Given the description of an element on the screen output the (x, y) to click on. 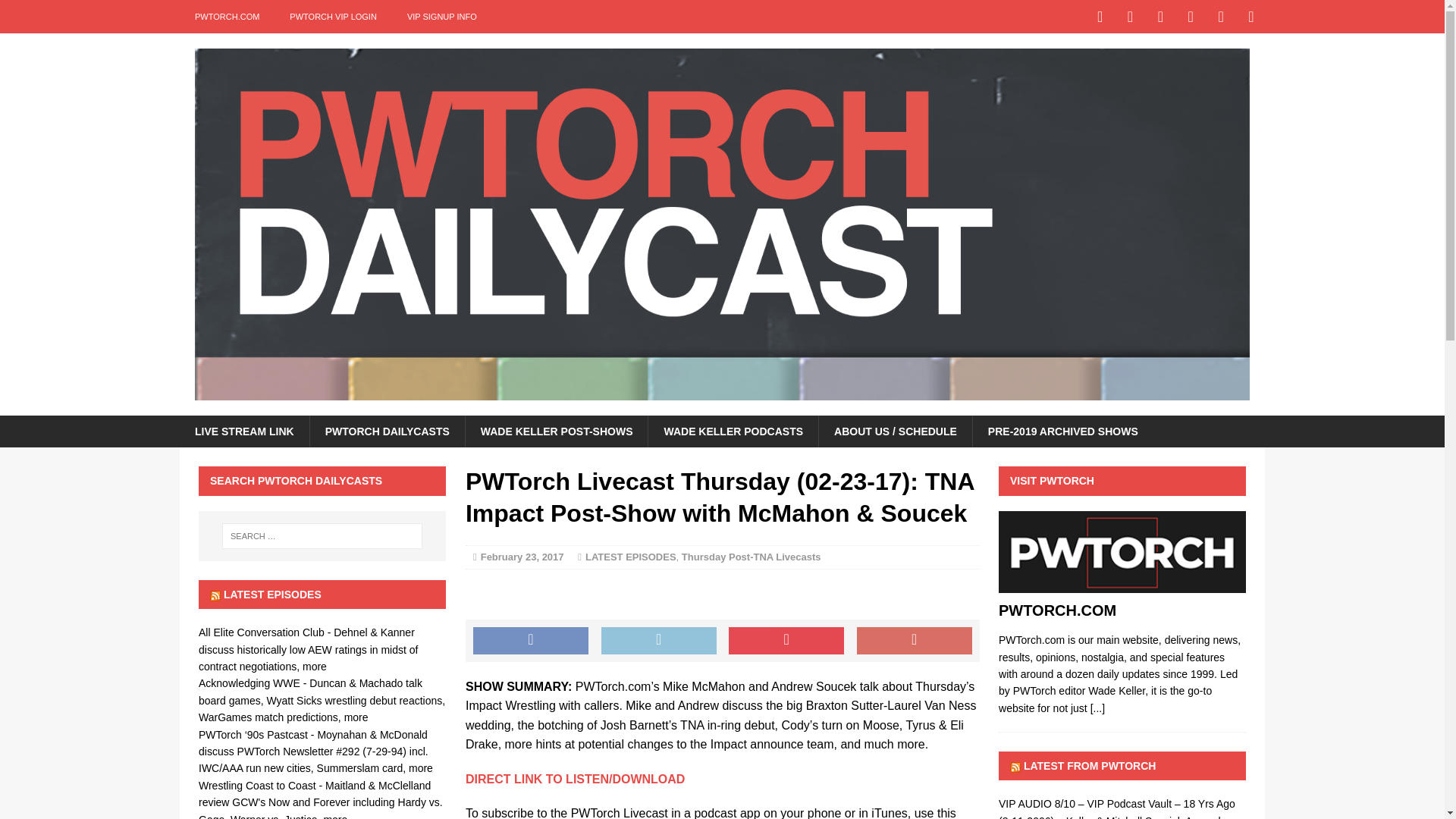
PWTORCH.COM (1097, 707)
PWTORCH.COM (227, 16)
PWTORCH.COM (1122, 584)
VIP SIGNUP INFO (441, 16)
PWTORCH.COM (1057, 610)
LIVE STREAM LINK (243, 431)
Share on Facebook (530, 640)
WADE KELLER PODCASTS (732, 431)
PWTORCH DAILYCASTS (386, 431)
